Given the description of an element on the screen output the (x, y) to click on. 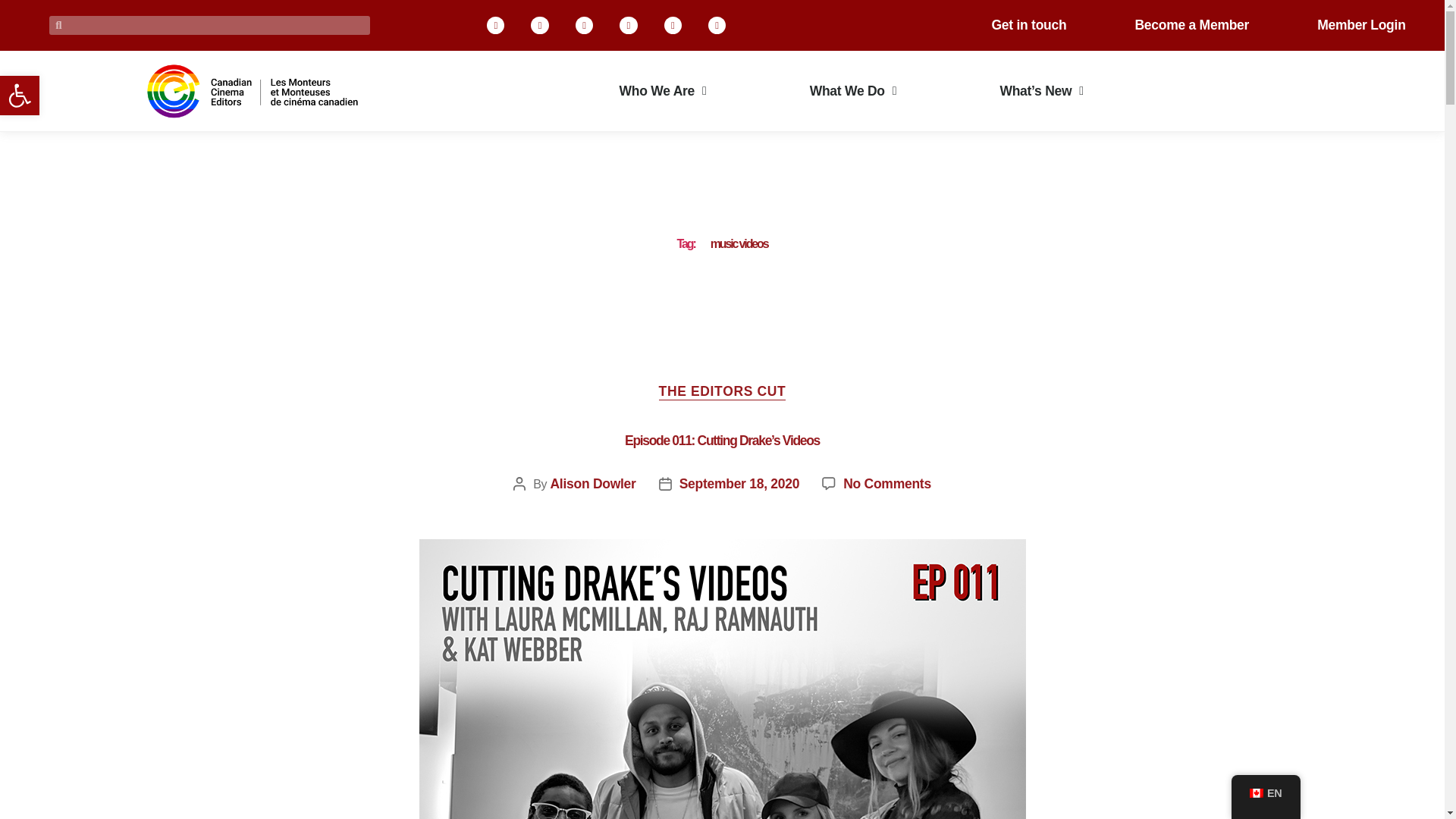
Who We Are (662, 90)
Open toolbar (19, 95)
Become a Member (1191, 24)
Get in touch (1028, 24)
Accessibility Tools (19, 95)
What We Do (852, 90)
Member Login (1360, 24)
